Given the description of an element on the screen output the (x, y) to click on. 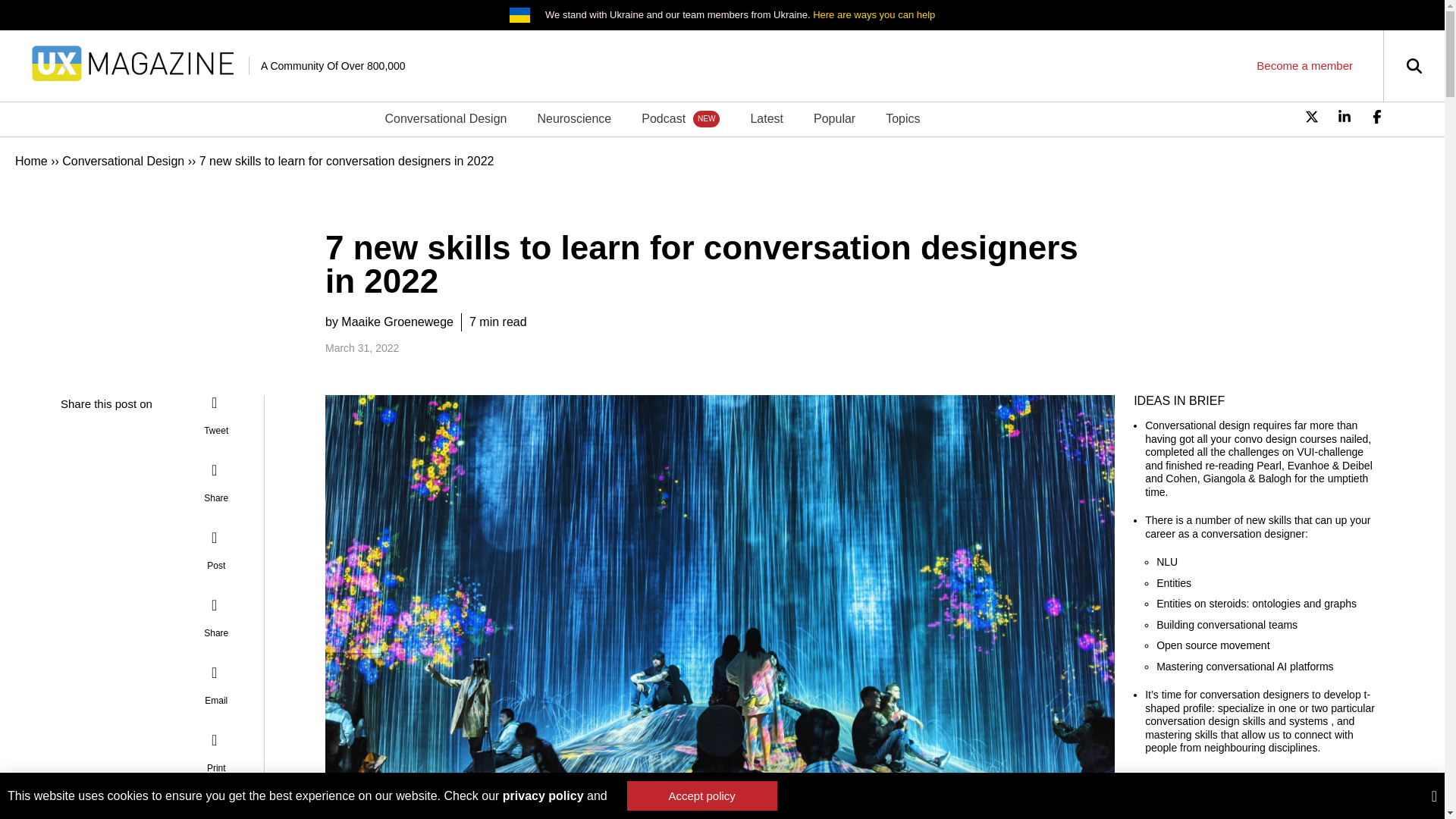
Latest (766, 118)
Home (31, 160)
Become a member (1304, 65)
Neuroscience (573, 118)
Podcast (680, 118)
Topics (902, 118)
Here are ways you can help (873, 14)
Conversational Design (445, 118)
Popular (833, 118)
Conversational Design (123, 160)
